Given the description of an element on the screen output the (x, y) to click on. 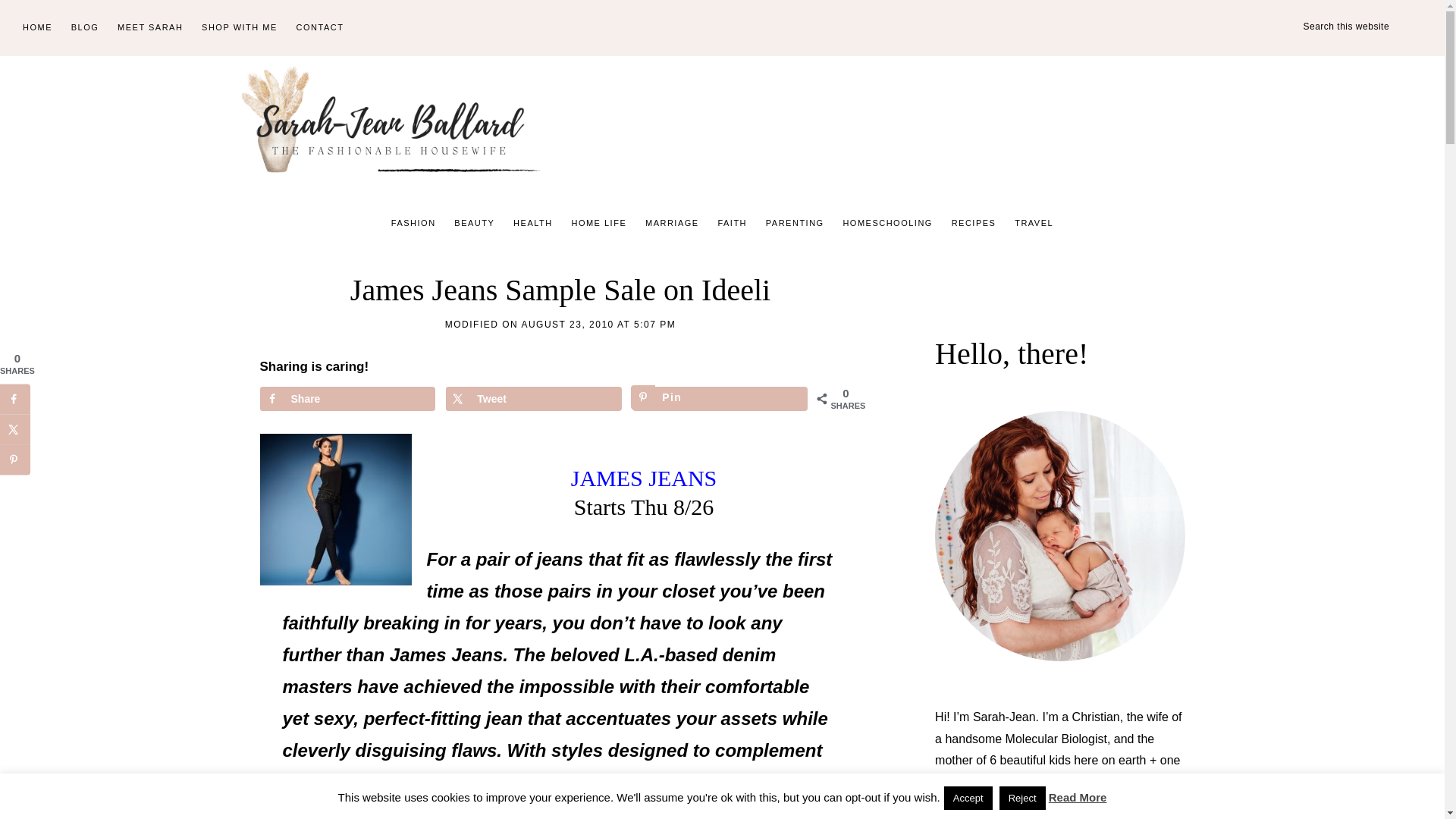
CONTACT (320, 27)
Share on X (533, 398)
HOME (36, 27)
Share on X (15, 429)
MEET SARAH (150, 27)
Share on Facebook (15, 399)
Save to Pinterest (719, 398)
Share on Facebook (346, 398)
